Given the description of an element on the screen output the (x, y) to click on. 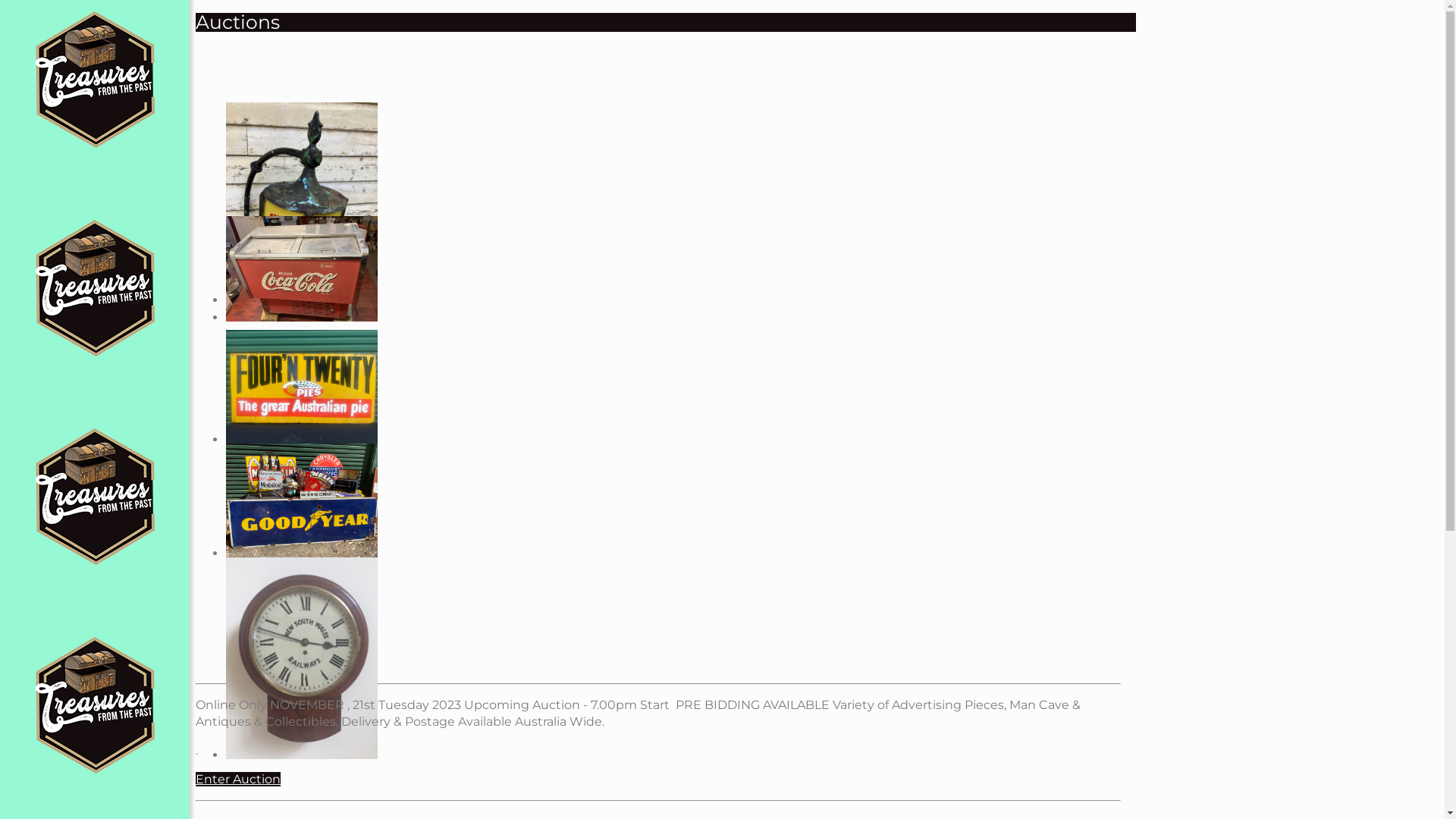
P#03 Element type: hover (301, 268)
Treasures From The Past Element type: hover (94, 456)
Enter Auction Element type: text (237, 778)
P#02 Element type: hover (301, 202)
P#05 Element type: hover (301, 499)
P#04 Element type: hover (301, 385)
